Given the description of an element on the screen output the (x, y) to click on. 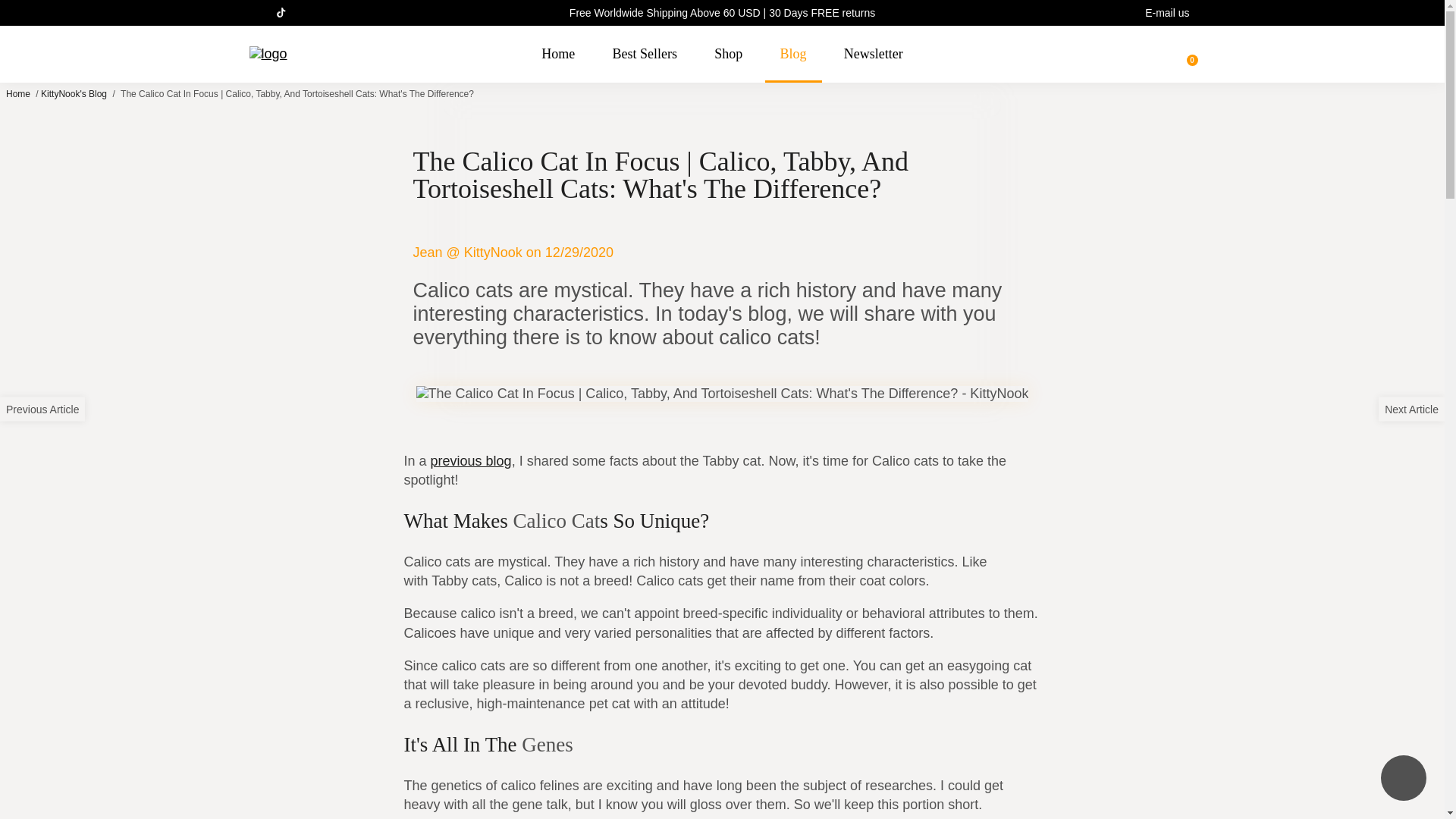
Best Sellers (643, 53)
Shop (727, 53)
Home (557, 53)
Home (17, 93)
previous blog (471, 460)
E-mail us (1166, 12)
Home (17, 93)
Previous Article (42, 409)
KittyNook's Blog (73, 93)
Blog (793, 53)
